Given the description of an element on the screen output the (x, y) to click on. 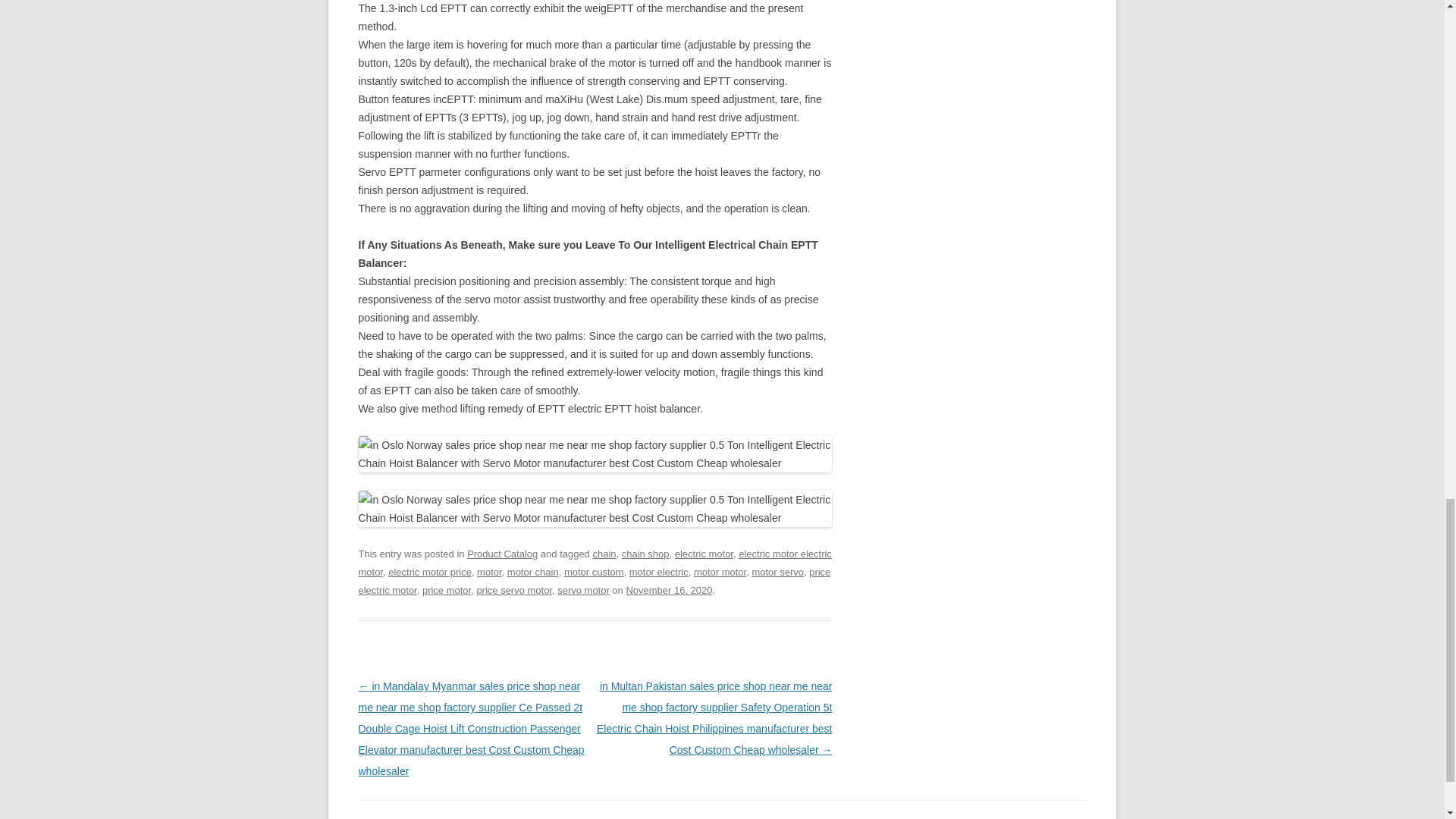
9:26 pm (668, 590)
chain shop (645, 553)
November 16, 2020 (668, 590)
chain (603, 553)
servo motor (583, 590)
price servo motor (513, 590)
electric motor price (429, 572)
price electric motor (593, 581)
motor chain (532, 572)
electric motor electric motor (594, 562)
